Given the description of an element on the screen output the (x, y) to click on. 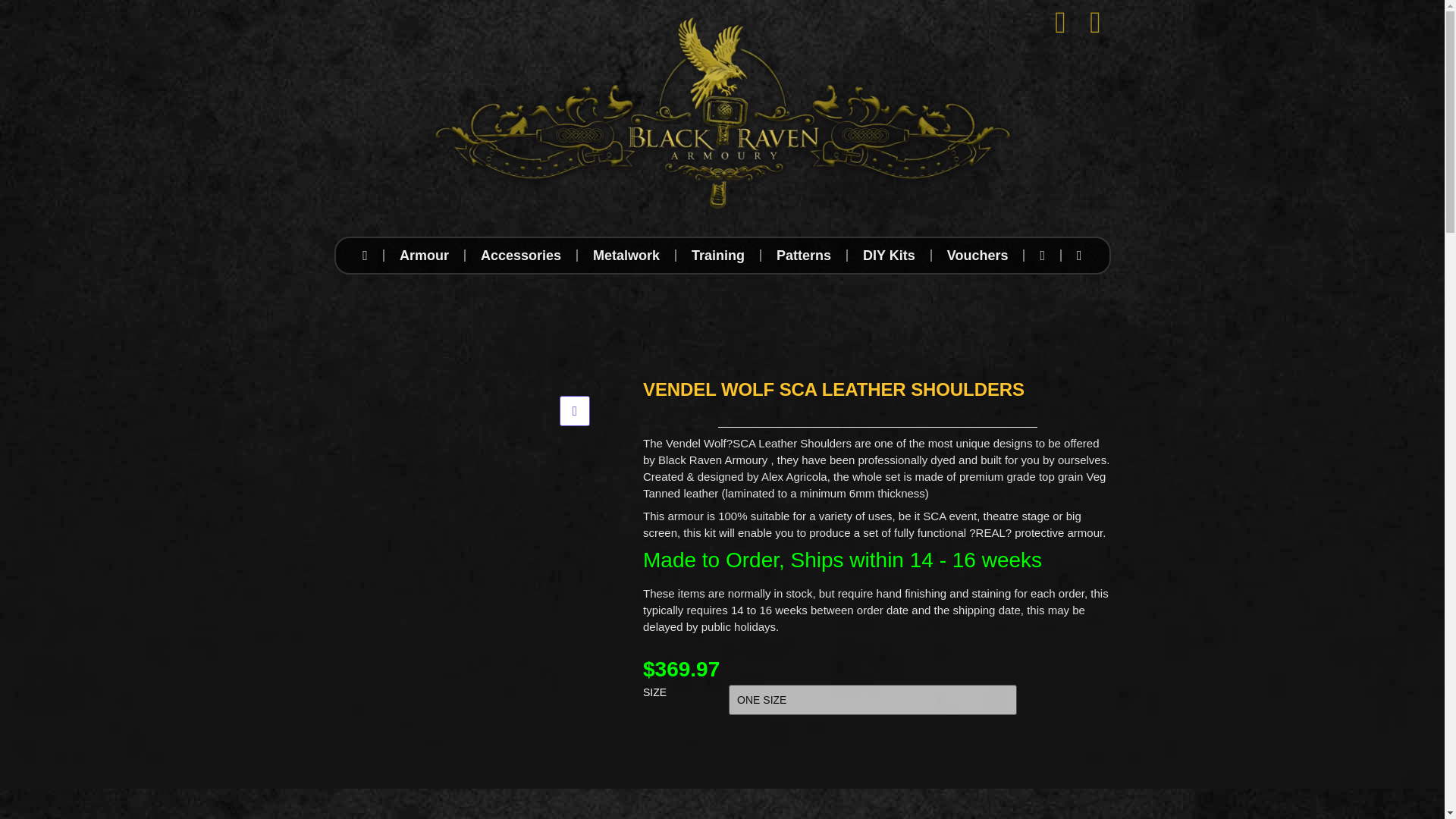
Patterns (803, 255)
Metalwork (626, 255)
Accessories (520, 255)
Training (718, 255)
Vouchers (977, 255)
Armour (424, 255)
Product Thumbnail (574, 410)
DIY Kits (888, 255)
